Given the description of an element on the screen output the (x, y) to click on. 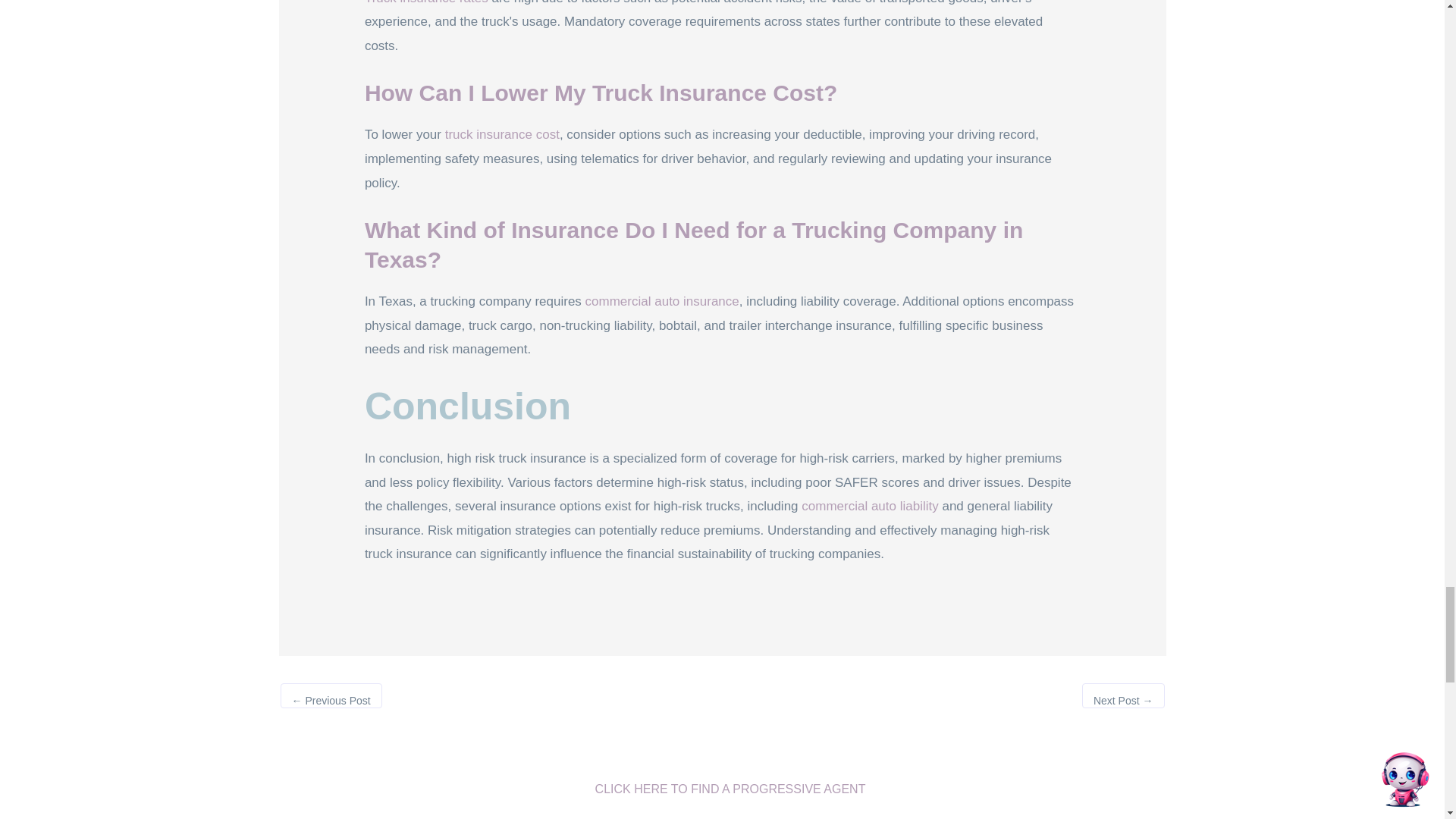
truck insurance cost (502, 134)
CLICK HERE TO FIND A PROGRESSIVE AGENT (722, 790)
Truck insurance rates (426, 2)
commercial auto insurance (662, 301)
Truck Insurance Rates (426, 2)
commercial auto liability (869, 505)
